Given the description of an element on the screen output the (x, y) to click on. 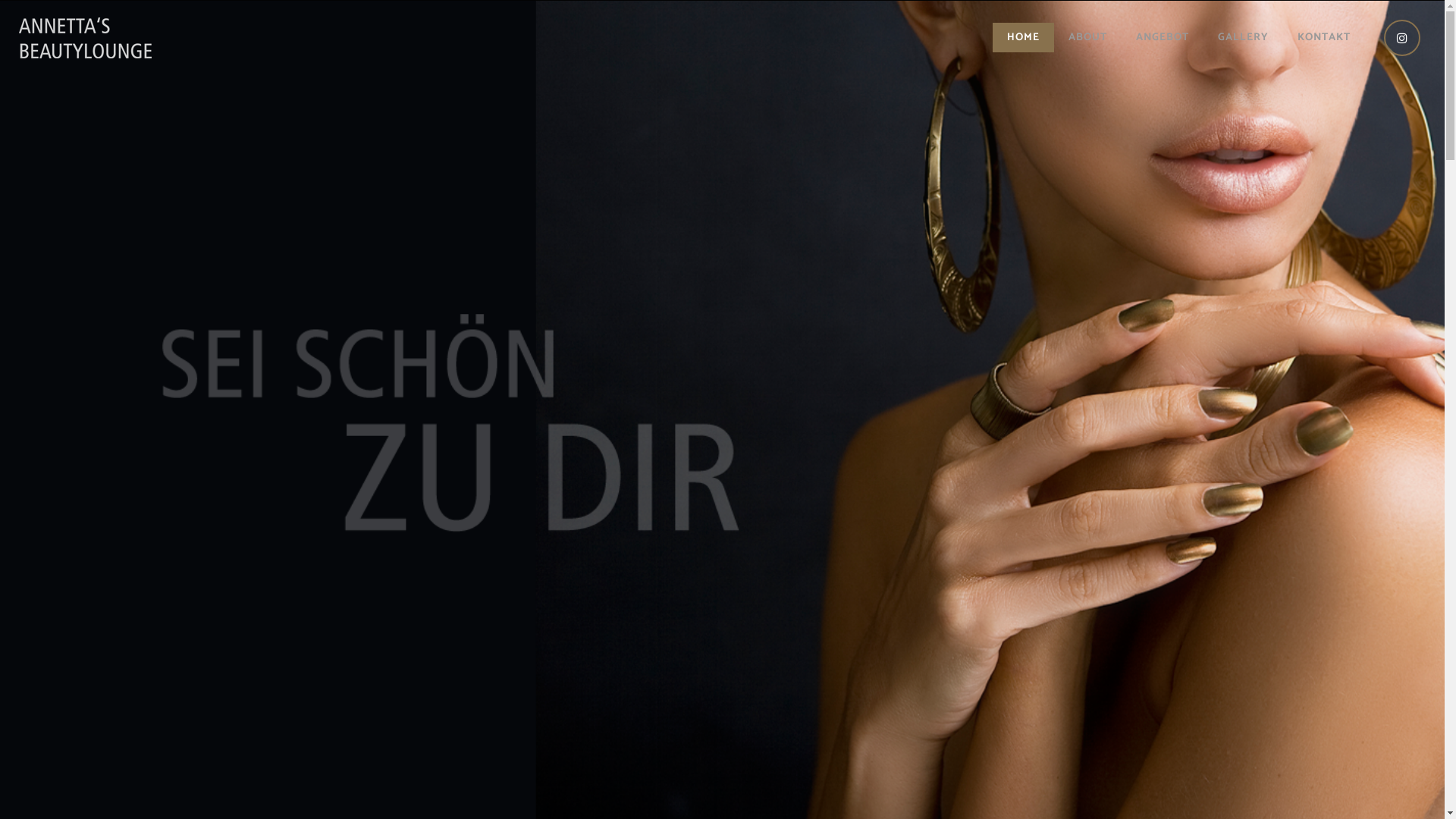
GALLERY Element type: text (1243, 37)
ABOUT Element type: text (1087, 37)
HOME Element type: text (1023, 37)
ANGEBOT Element type: text (1162, 37)
KONTAKT Element type: text (1324, 37)
